Given the description of an element on the screen output the (x, y) to click on. 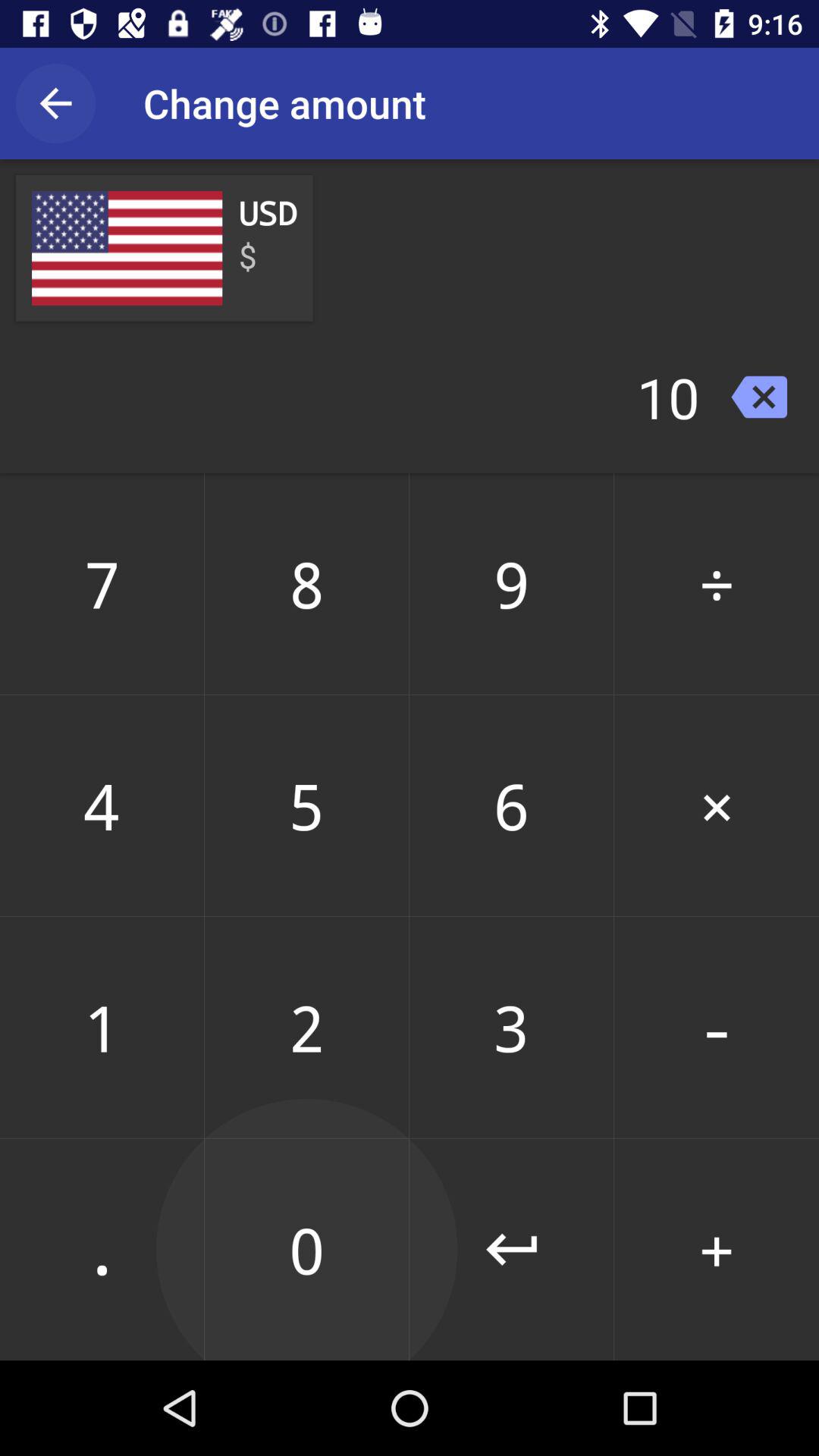
choose the item next to change amount icon (55, 103)
